Given the description of an element on the screen output the (x, y) to click on. 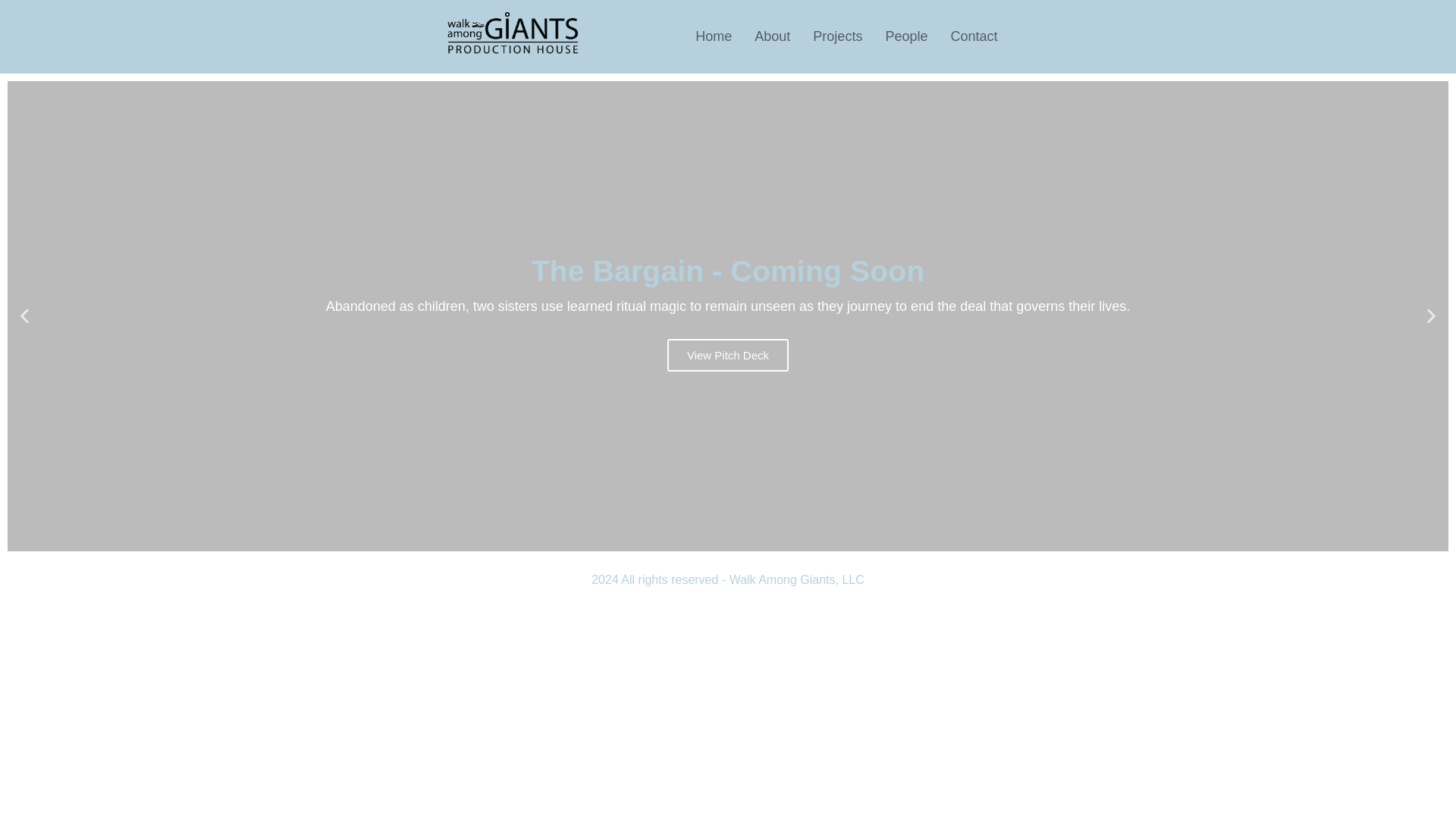
About (772, 36)
Contact (974, 36)
Home (713, 36)
Projects (837, 36)
People (906, 36)
